Given the description of an element on the screen output the (x, y) to click on. 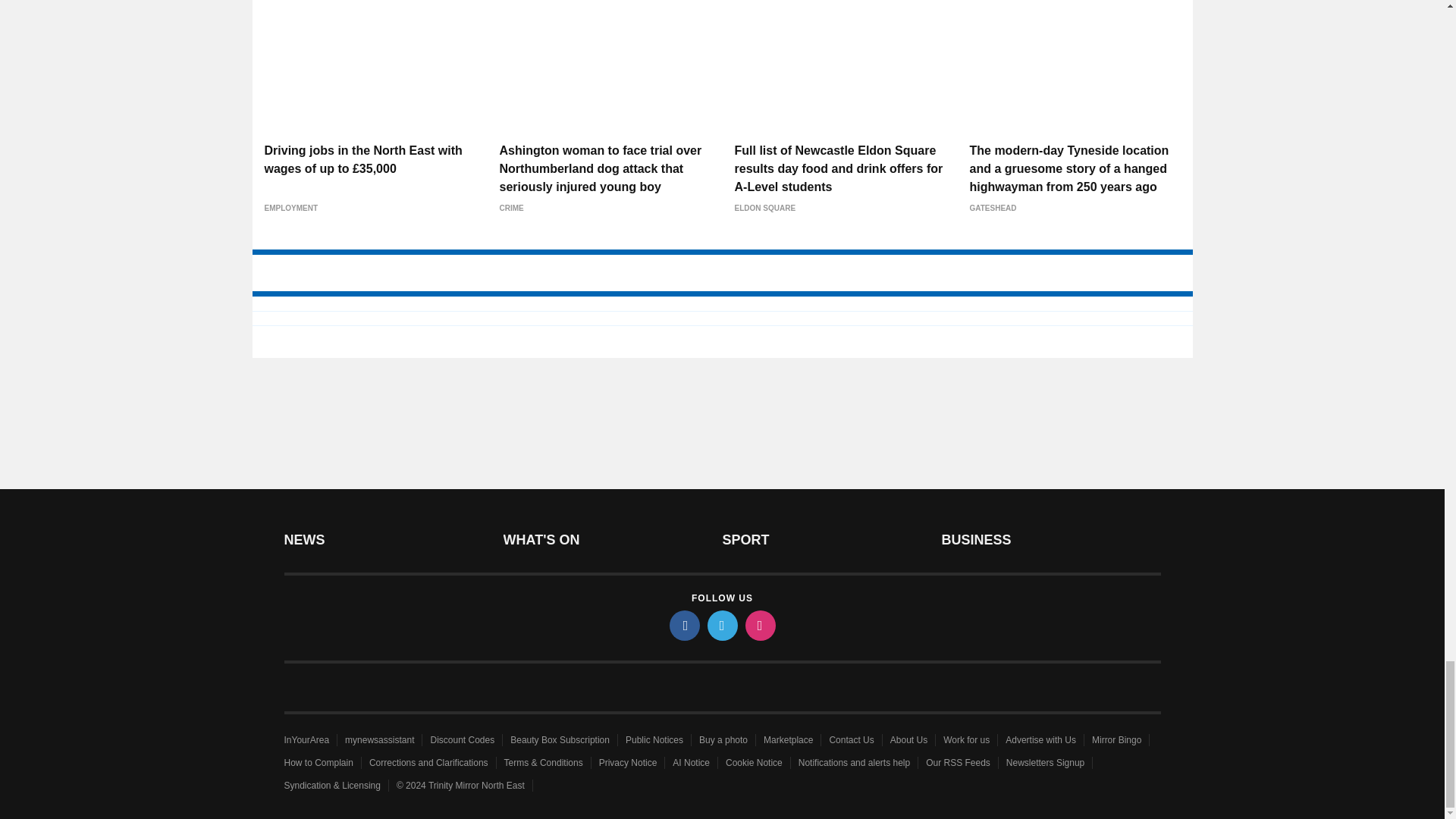
twitter (721, 625)
instagram (759, 625)
facebook (683, 625)
